Given the description of an element on the screen output the (x, y) to click on. 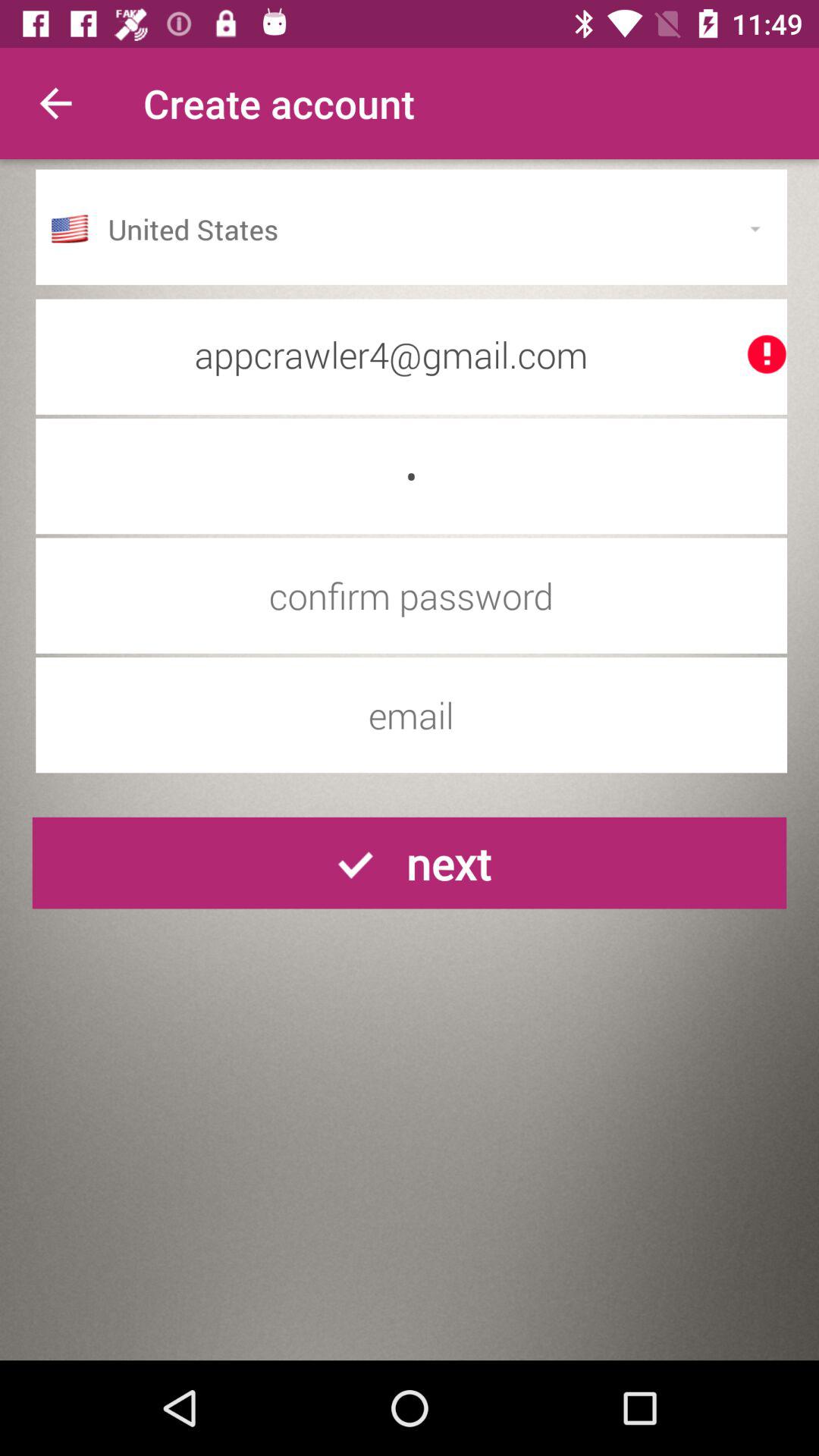
flip until appcrawler4@gmail.com icon (411, 354)
